Given the description of an element on the screen output the (x, y) to click on. 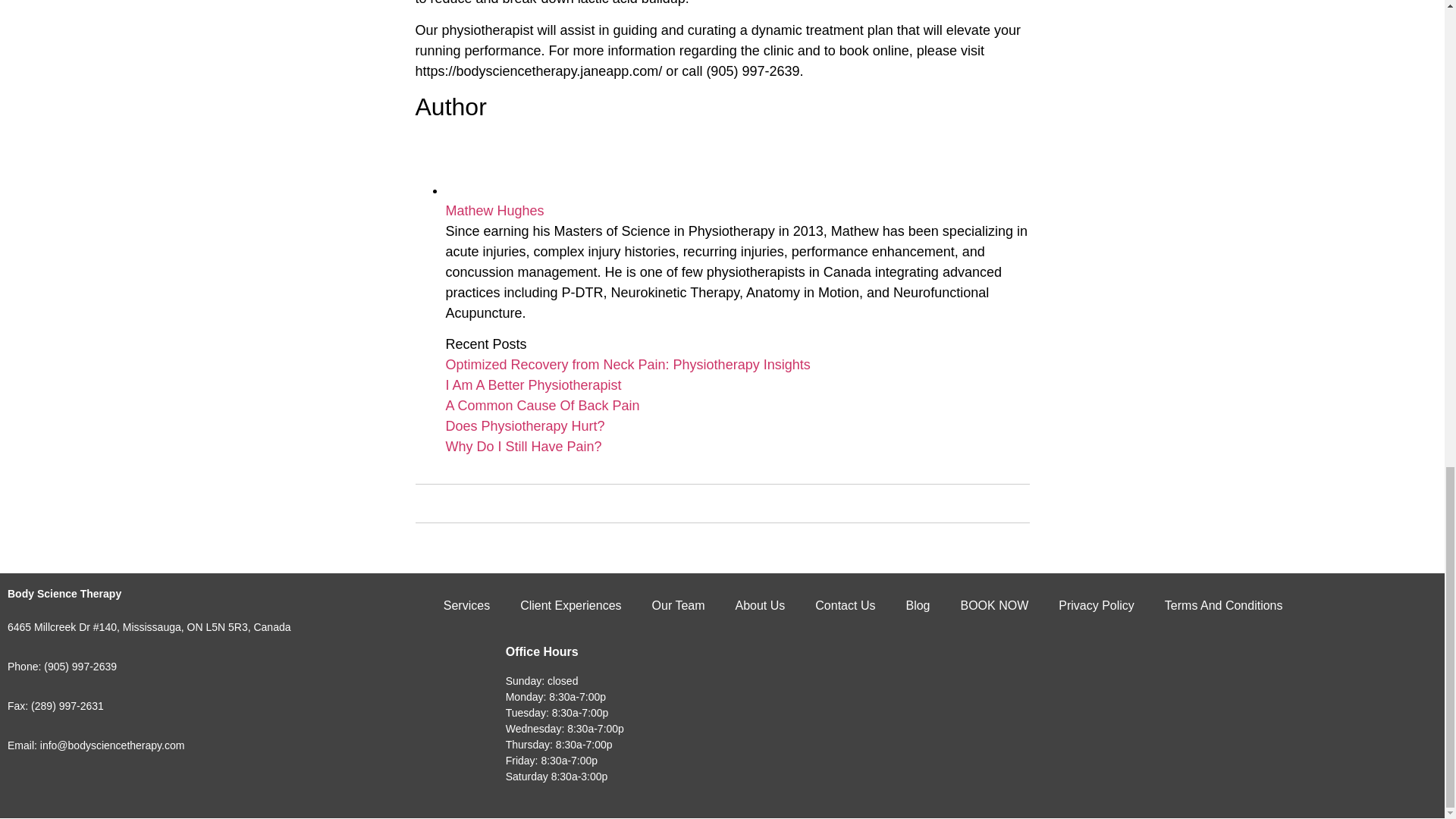
Mathew Hughes (494, 210)
body science therapy (1146, 703)
Why Do I Still Have Pain? (523, 446)
I Am A Better Physiotherapist (533, 385)
A Common Cause Of Back Pain (542, 405)
Does Physiotherapy Hurt? (525, 426)
Optimized Recovery from Neck Pain: Physiotherapy Insights (627, 364)
